Given the description of an element on the screen output the (x, y) to click on. 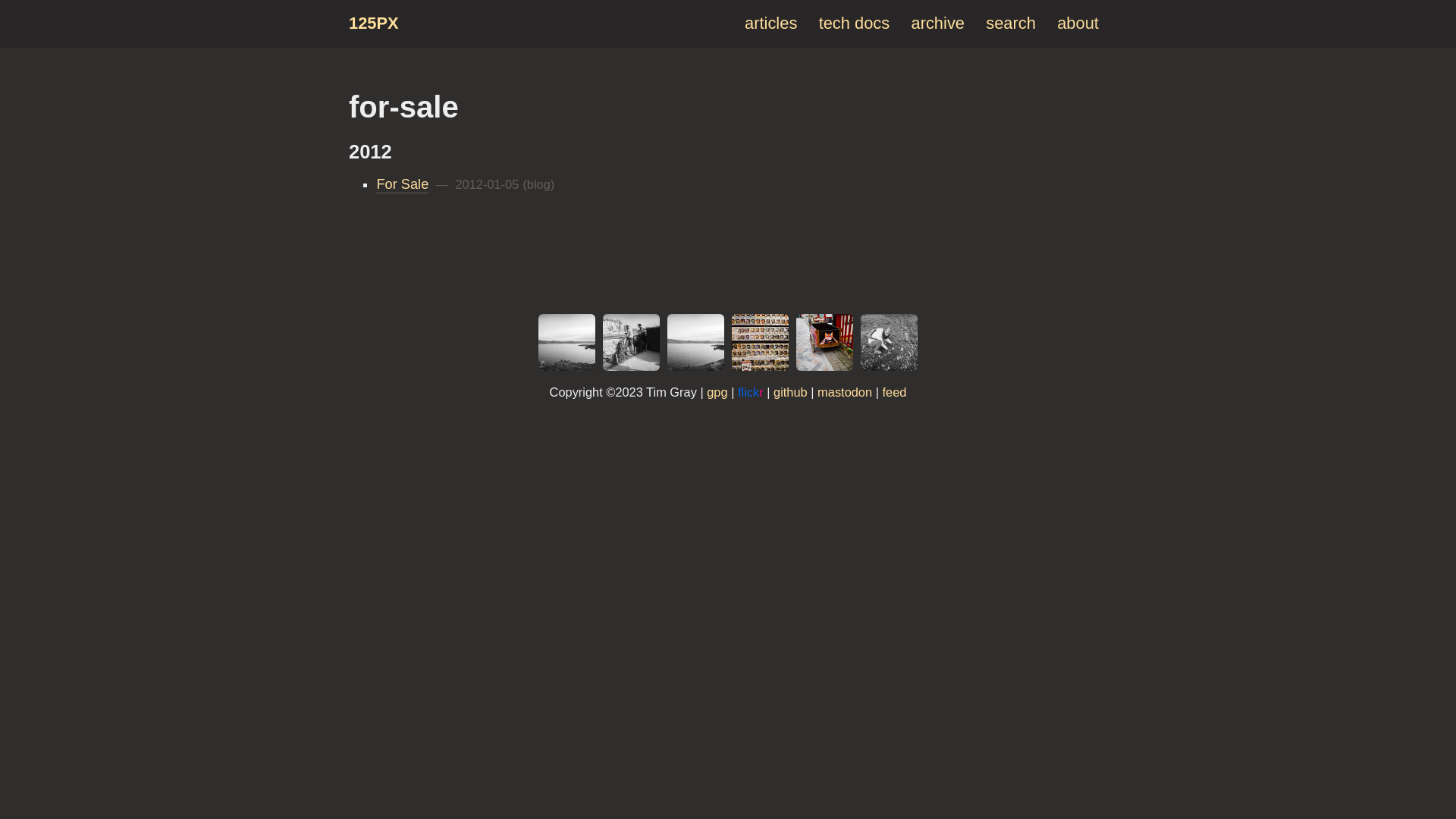
125PX Element type: text (373, 22)
Kleifarvatn Element type: hover (695, 341)
gpg Element type: text (716, 391)
feed Element type: text (893, 391)
mastodon Element type: text (844, 391)
flickr Element type: text (750, 391)
search Element type: text (1010, 22)
about Element type: text (1077, 22)
FUNKO Element type: hover (759, 341)
tech docs Element type: text (854, 22)
fishing Element type: hover (630, 341)
articles Element type: text (770, 22)
For Sale Element type: text (402, 184)
github Element type: text (790, 391)
Eystri-Fellsfjara / Diamond Beach Element type: hover (888, 341)
Kleifarvatn Element type: hover (566, 341)
cat box Element type: hover (824, 341)
archive Element type: text (938, 22)
